Given the description of an element on the screen output the (x, y) to click on. 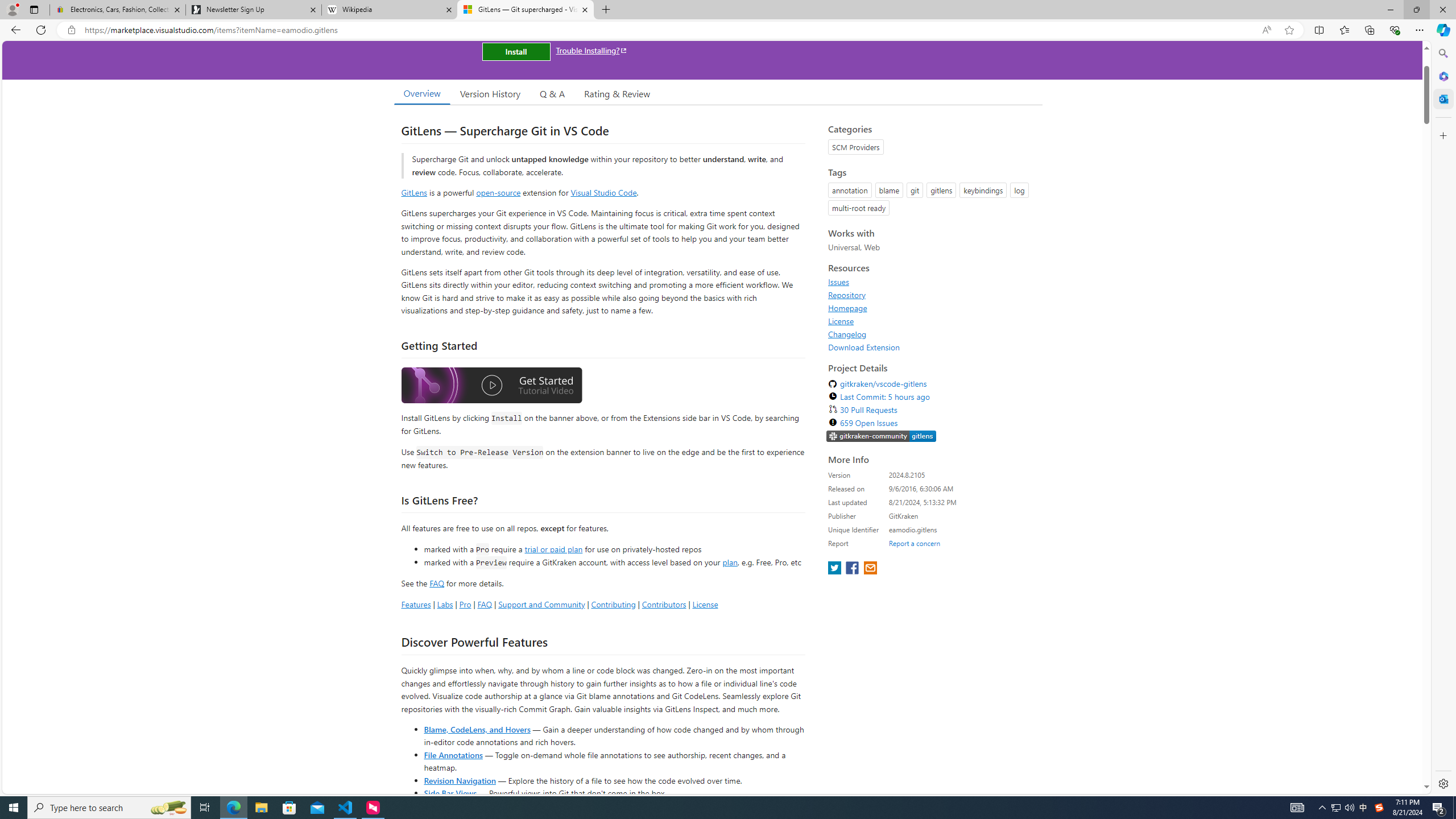
Install (515, 51)
https://slack.gitkraken.com// (881, 436)
FAQ (484, 603)
plan (730, 562)
